Given the description of an element on the screen output the (x, y) to click on. 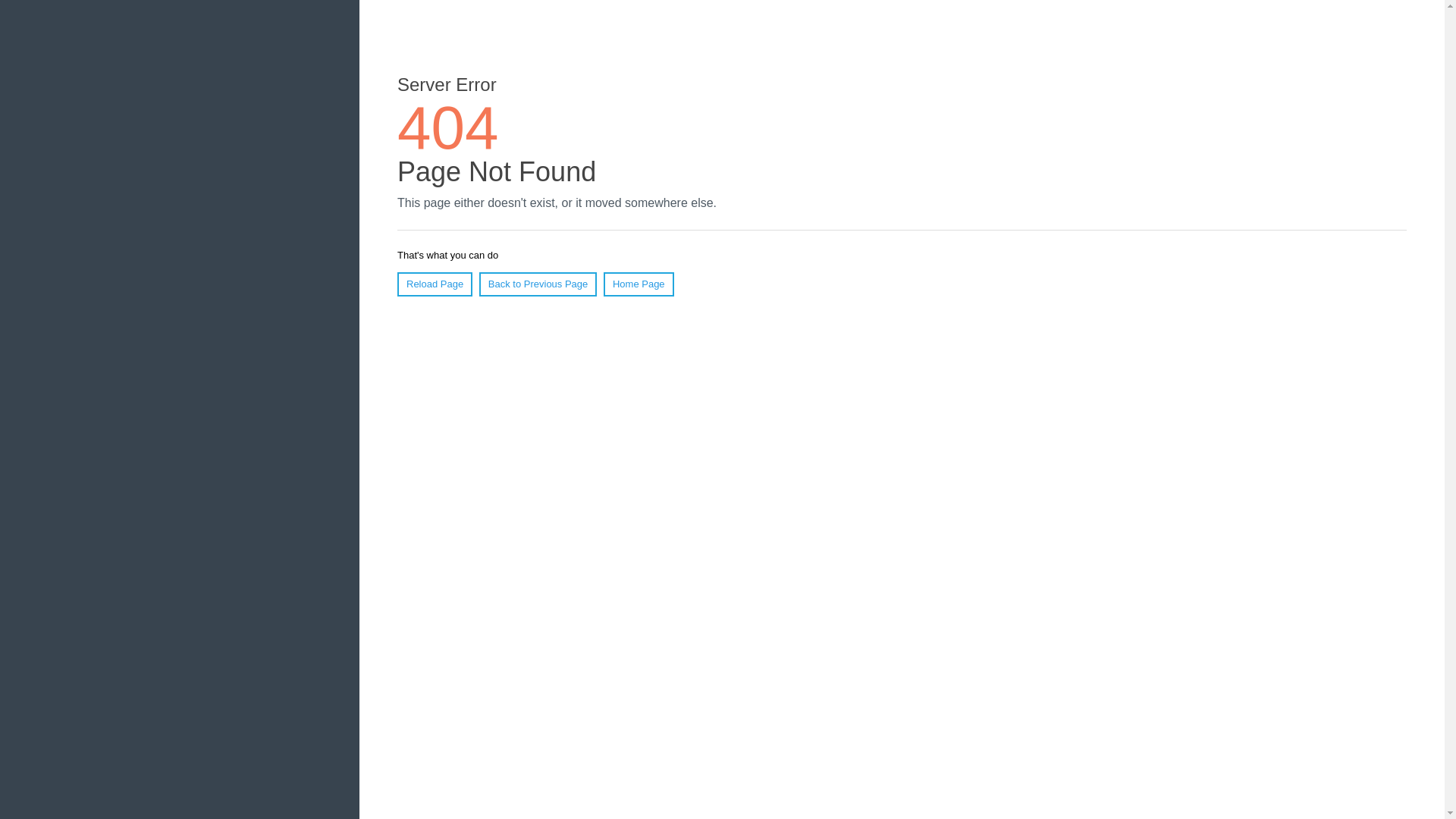
Reload Page Element type: text (434, 284)
Home Page Element type: text (638, 284)
Back to Previous Page Element type: text (538, 284)
